Given the description of an element on the screen output the (x, y) to click on. 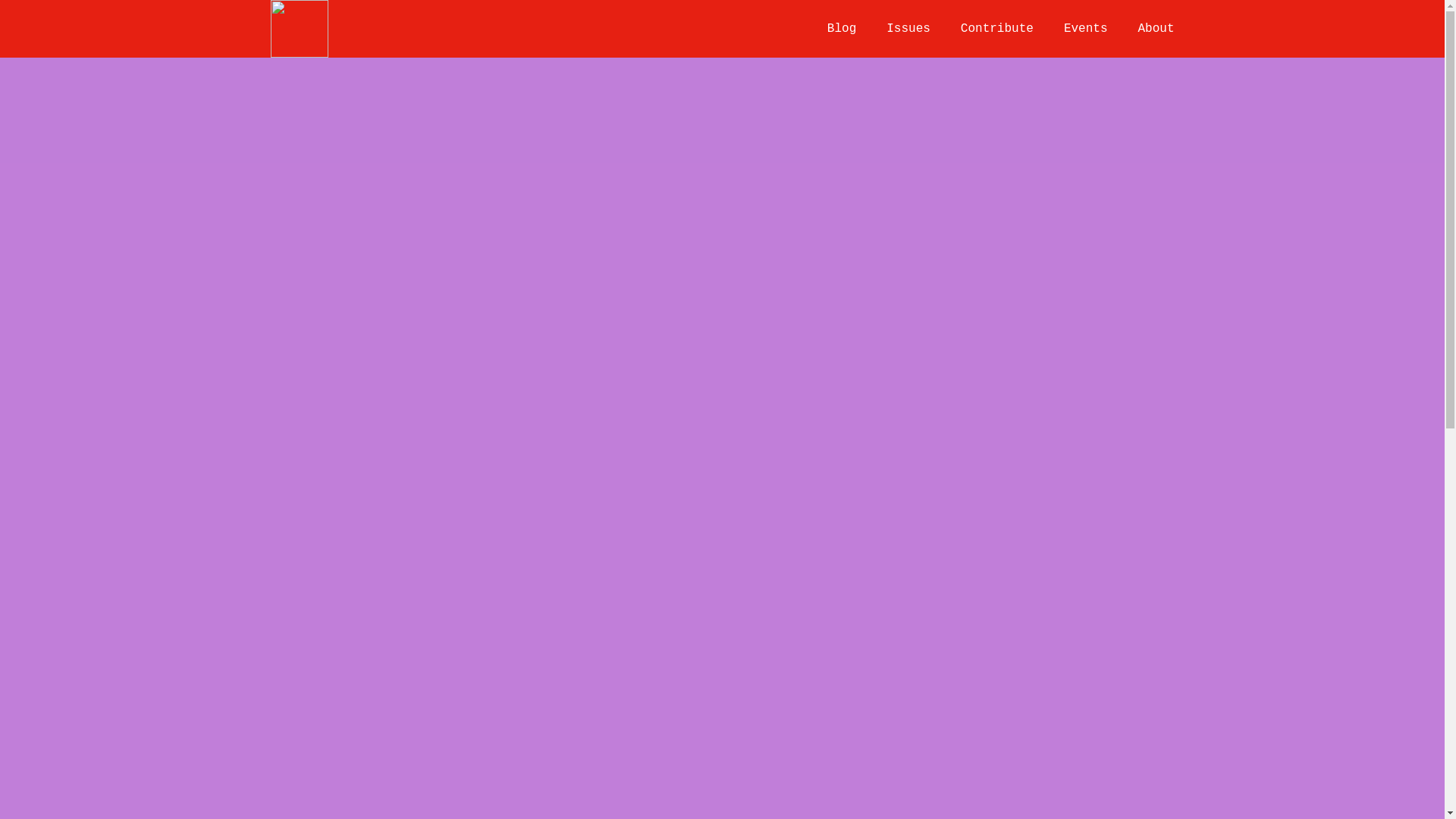
Blog (841, 28)
Events (1086, 28)
Contribute (996, 28)
About (1155, 28)
Issues (908, 28)
